Given the description of an element on the screen output the (x, y) to click on. 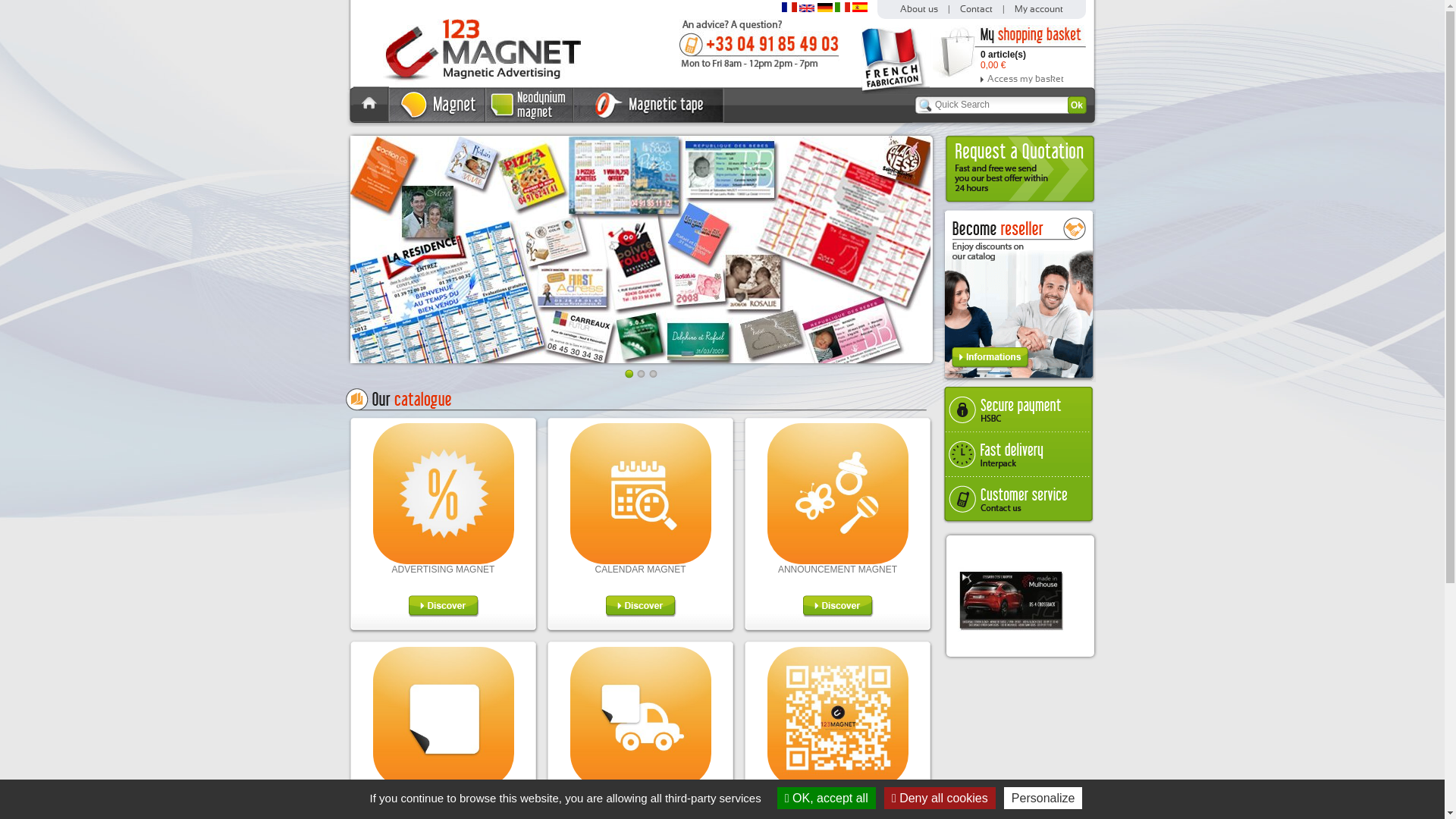
About us Element type: text (919, 8)
Magnetic Signs For Cars Element type: hover (641, 249)
My account Element type: text (1038, 8)
Home Element type: hover (371, 118)
CALENDAR MAGNET Element type: text (639, 569)
Magnet Element type: hover (437, 119)
Magnetic tape Element type: hover (649, 119)
Announcement magnet Element type: hover (837, 560)
Contact Element type: hover (759, 66)
2 Element type: text (641, 373)
Deny all cookies Element type: text (939, 798)
Neodymium magnet Element type: hover (530, 119)
Contact Element type: text (976, 8)
Become a reseller Element type: hover (1018, 378)
100% made in France Element type: hover (896, 91)
OK, accept all Element type: text (826, 798)
English Element type: hover (806, 8)
ANNOUNCEMENT MAGNET Element type: text (837, 569)
Secure payment Element type: hover (1021, 407)
Personalize Element type: text (1043, 798)
123 Magnet, magnetic publicity Element type: hover (469, 82)
Customer service Element type: hover (1021, 500)
1 Element type: text (628, 373)
3 Element type: text (653, 373)
Fast delivery Element type: hover (1021, 453)
Access my basket Element type: text (1032, 78)
ADVERTISING MAGNET Element type: text (443, 569)
INK JET MAGNETIC SHEET Element type: text (442, 792)
Ink jet magnetic sheet Element type: hover (443, 784)
QR CODE MAGNETS Element type: text (837, 792)
See my shopping basket Element type: hover (956, 51)
Advertising magnet Element type: hover (443, 560)
Request a quote Element type: hover (1019, 202)
Car magnet Element type: hover (640, 784)
CAR MAGNET Element type: text (639, 792)
Italian Element type: hover (842, 8)
Deutsch Element type: hover (824, 8)
QR code magnets Element type: hover (837, 784)
Calendar magnet Element type: hover (640, 560)
